Given the description of an element on the screen output the (x, y) to click on. 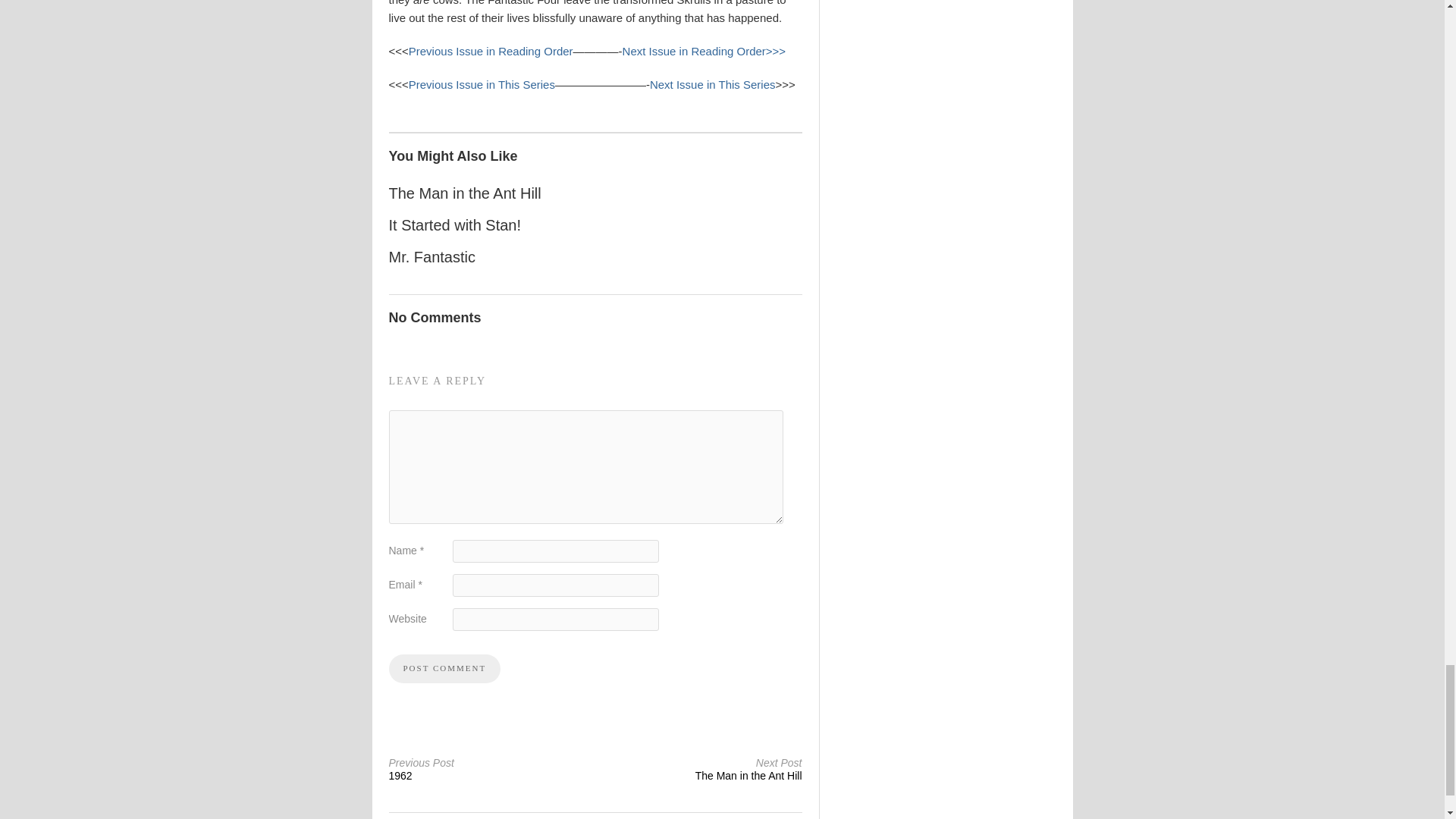
Previous Issue in Reading Order (491, 51)
The Man in the Ant Hill (464, 193)
Next Issue in This Series (712, 83)
Post Comment (444, 668)
Previous Issue in This Series (481, 83)
Mr. Fantastic (431, 256)
It Started with Stan! (454, 225)
Post Comment (700, 768)
